Given the description of an element on the screen output the (x, y) to click on. 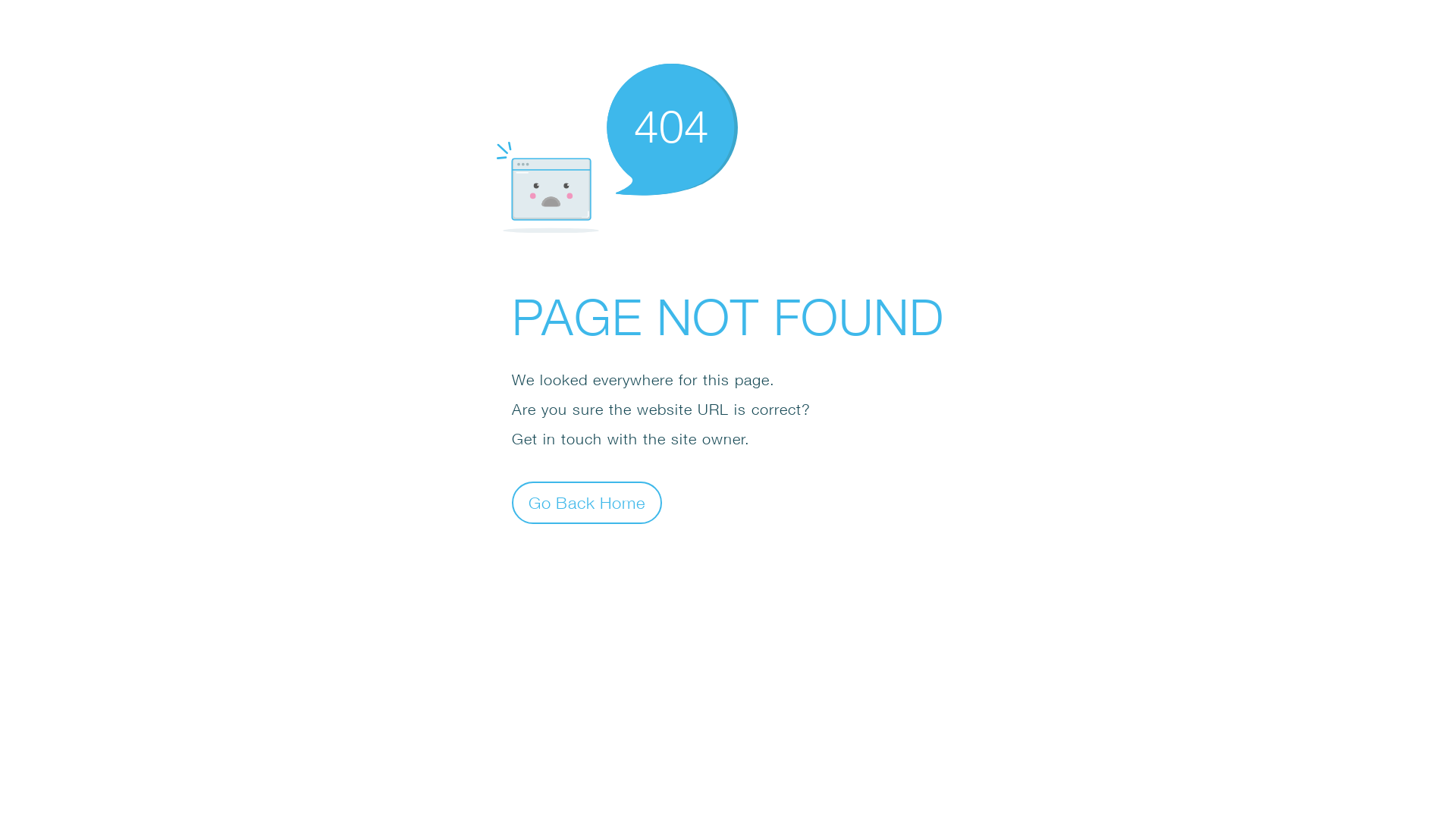
Go Back Home Element type: text (586, 502)
